Given the description of an element on the screen output the (x, y) to click on. 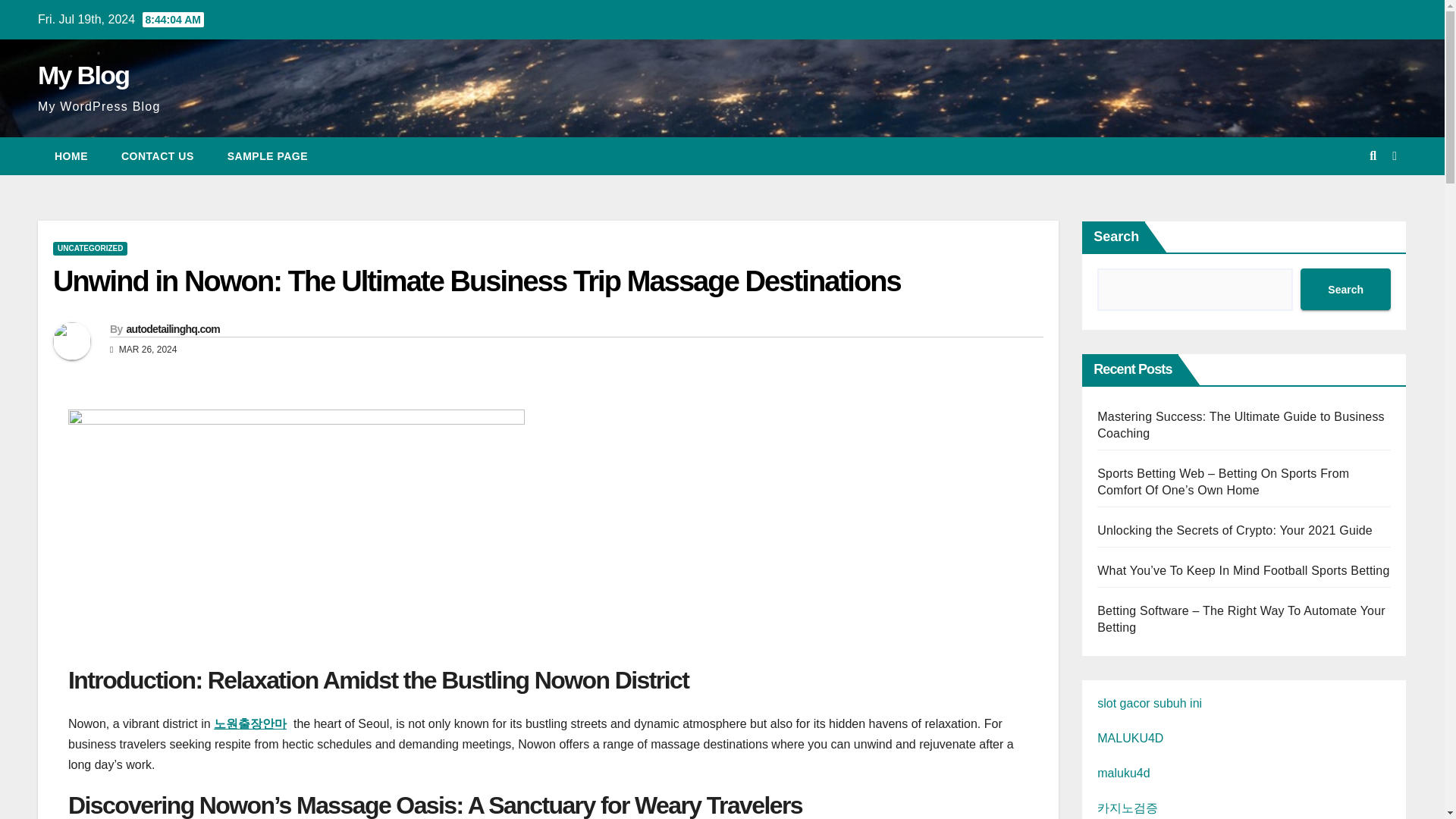
CONTACT US (157, 156)
SAMPLE PAGE (267, 156)
HOME (70, 156)
Home (70, 156)
My Blog (83, 74)
autodetailinghq.com (172, 328)
UNCATEGORIZED (90, 248)
